Given the description of an element on the screen output the (x, y) to click on. 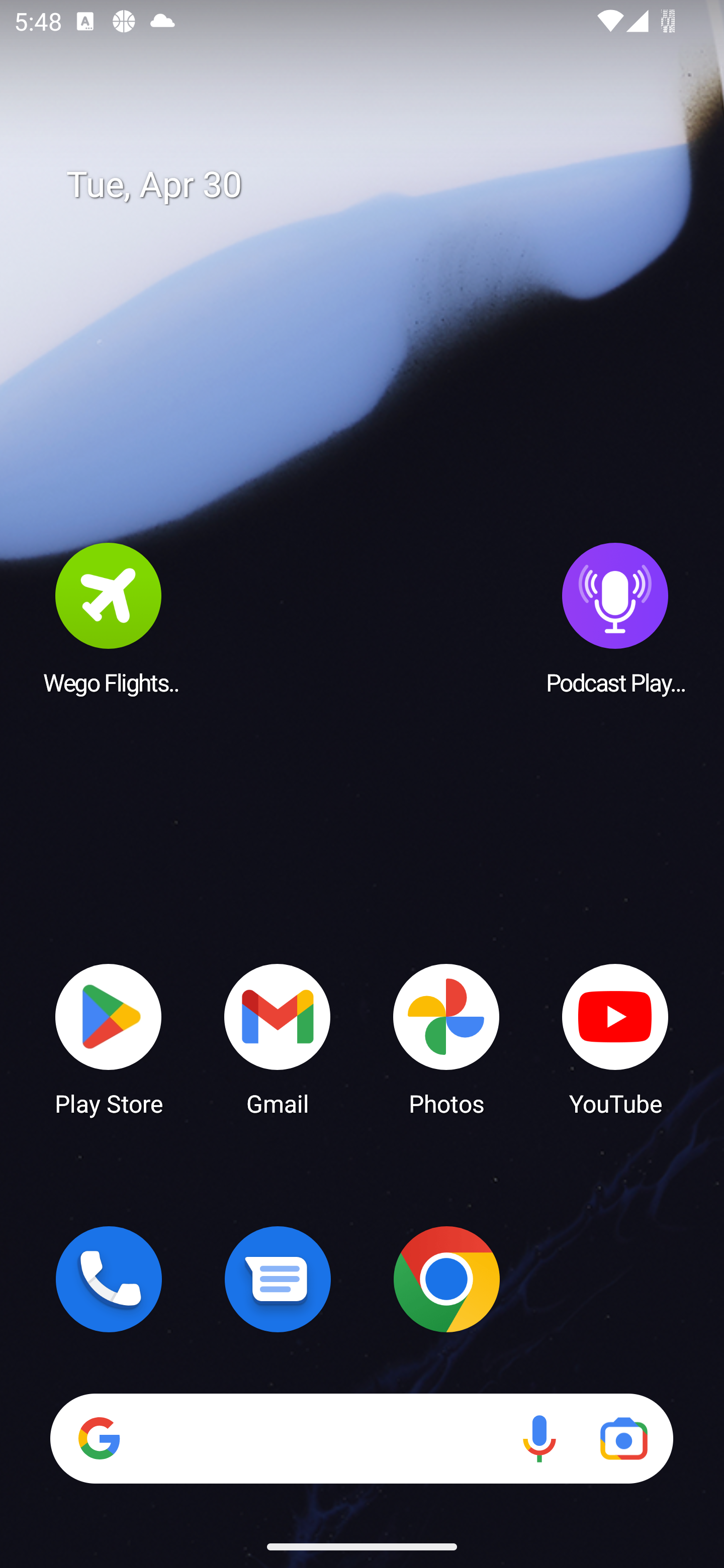
Tue, Apr 30 (375, 184)
Wego Flights & Hotels (108, 617)
Podcast Player (615, 617)
Play Store (108, 1038)
Gmail (277, 1038)
Photos (445, 1038)
YouTube (615, 1038)
Phone (108, 1279)
Messages (277, 1279)
Chrome (446, 1279)
Voice search (539, 1438)
Google Lens (623, 1438)
